Given the description of an element on the screen output the (x, y) to click on. 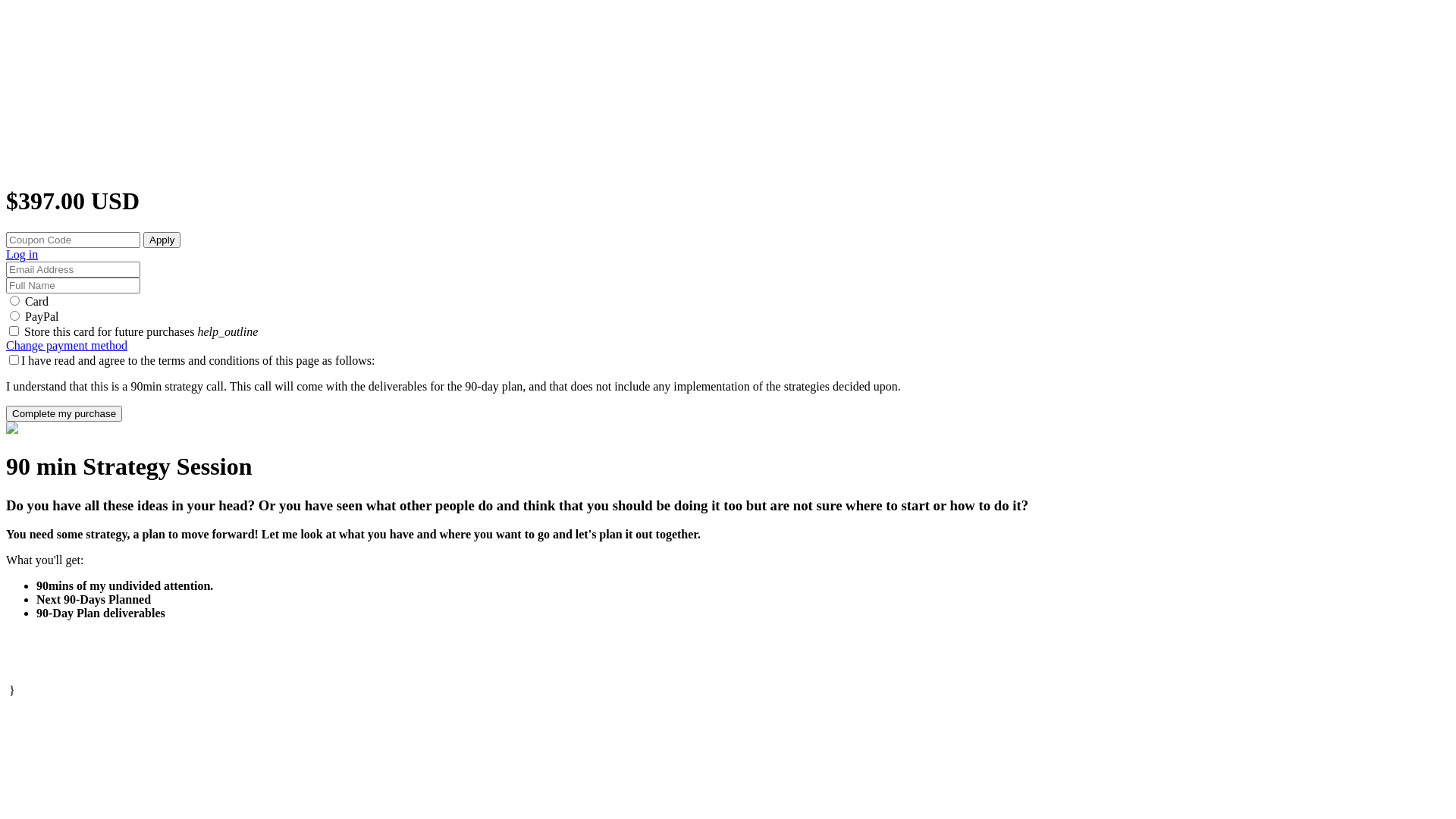
Log in Element type: text (21, 253)
Apply Element type: text (161, 239)
Complete my purchase Element type: text (64, 413)
Change payment method Element type: text (66, 344)
